Given the description of an element on the screen output the (x, y) to click on. 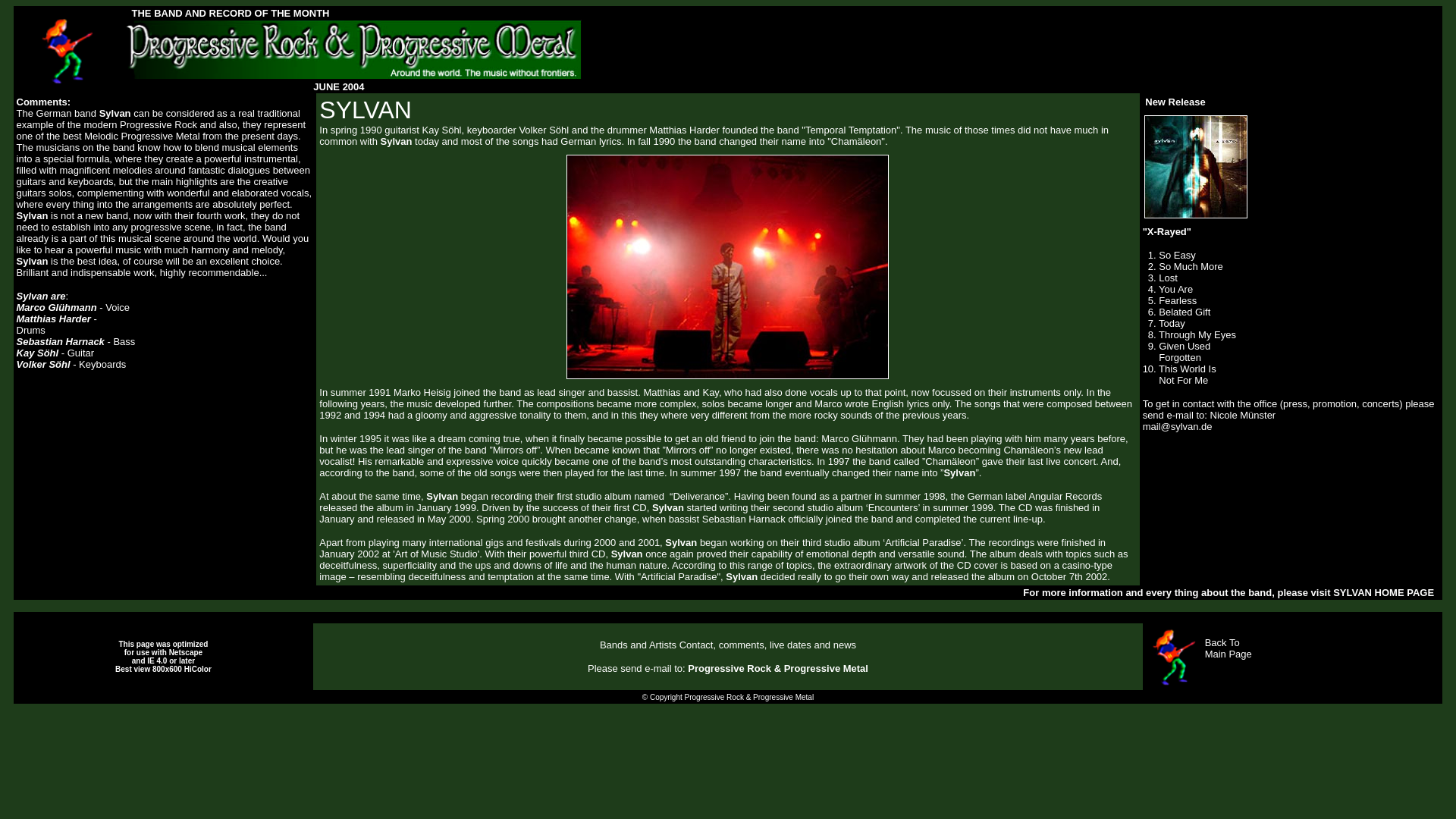
Main Page (1228, 654)
Back To (1222, 642)
SYLVAN HOME PAGE (1383, 592)
